Given the description of an element on the screen output the (x, y) to click on. 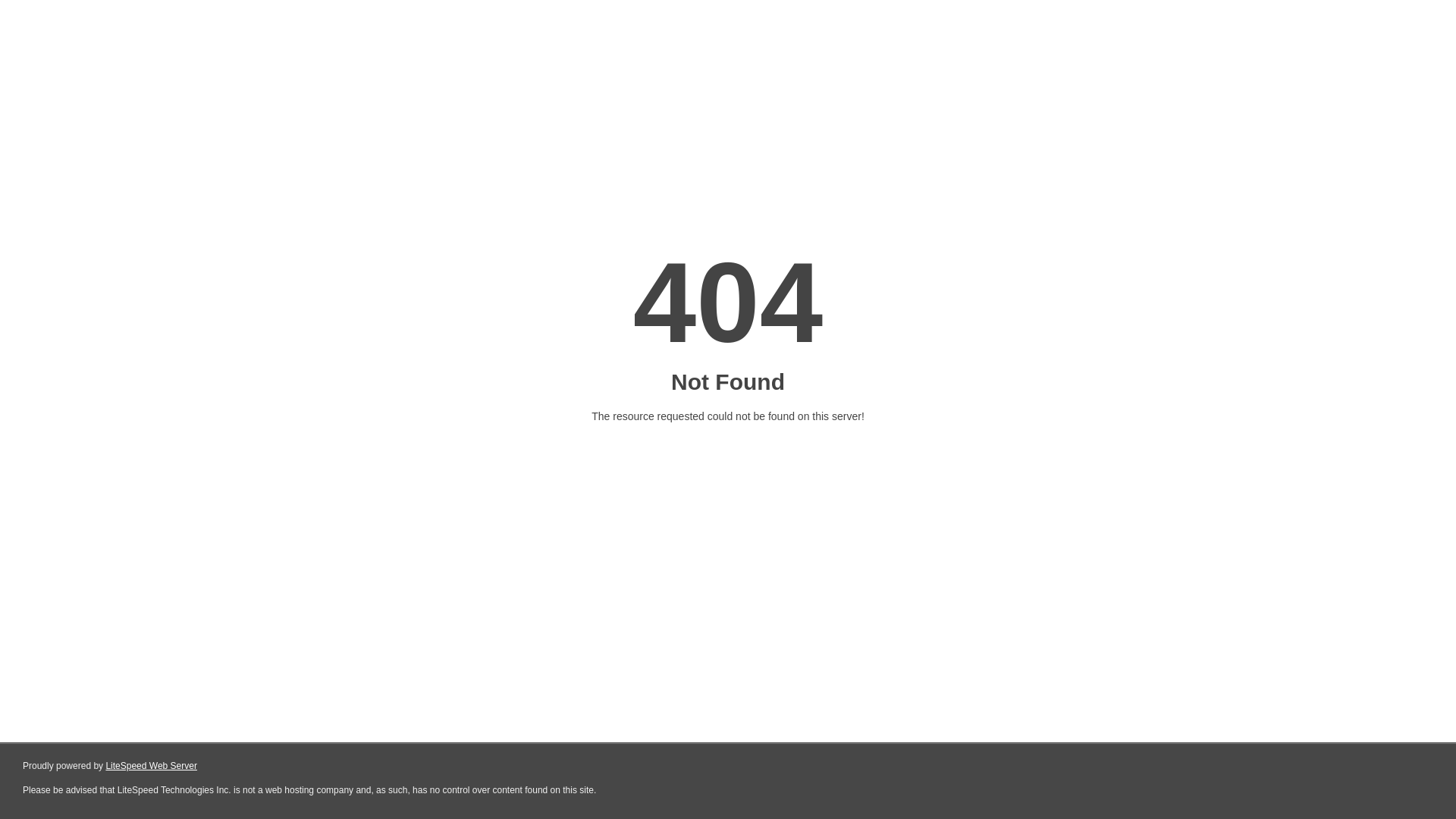
LiteSpeed Web Server Element type: text (151, 765)
